Given the description of an element on the screen output the (x, y) to click on. 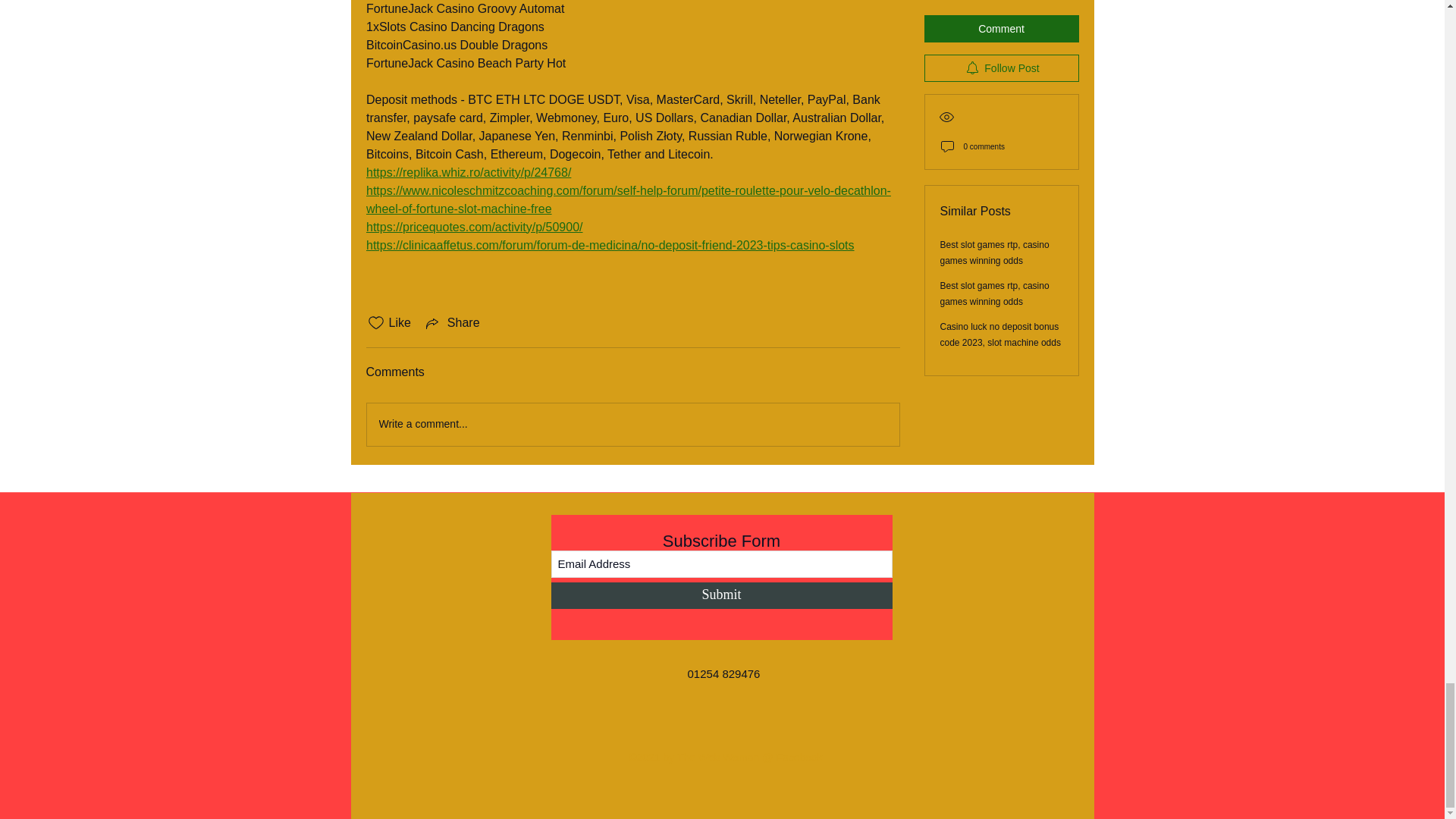
Write a comment... (632, 424)
Submit (720, 595)
Share (451, 322)
